Given the description of an element on the screen output the (x, y) to click on. 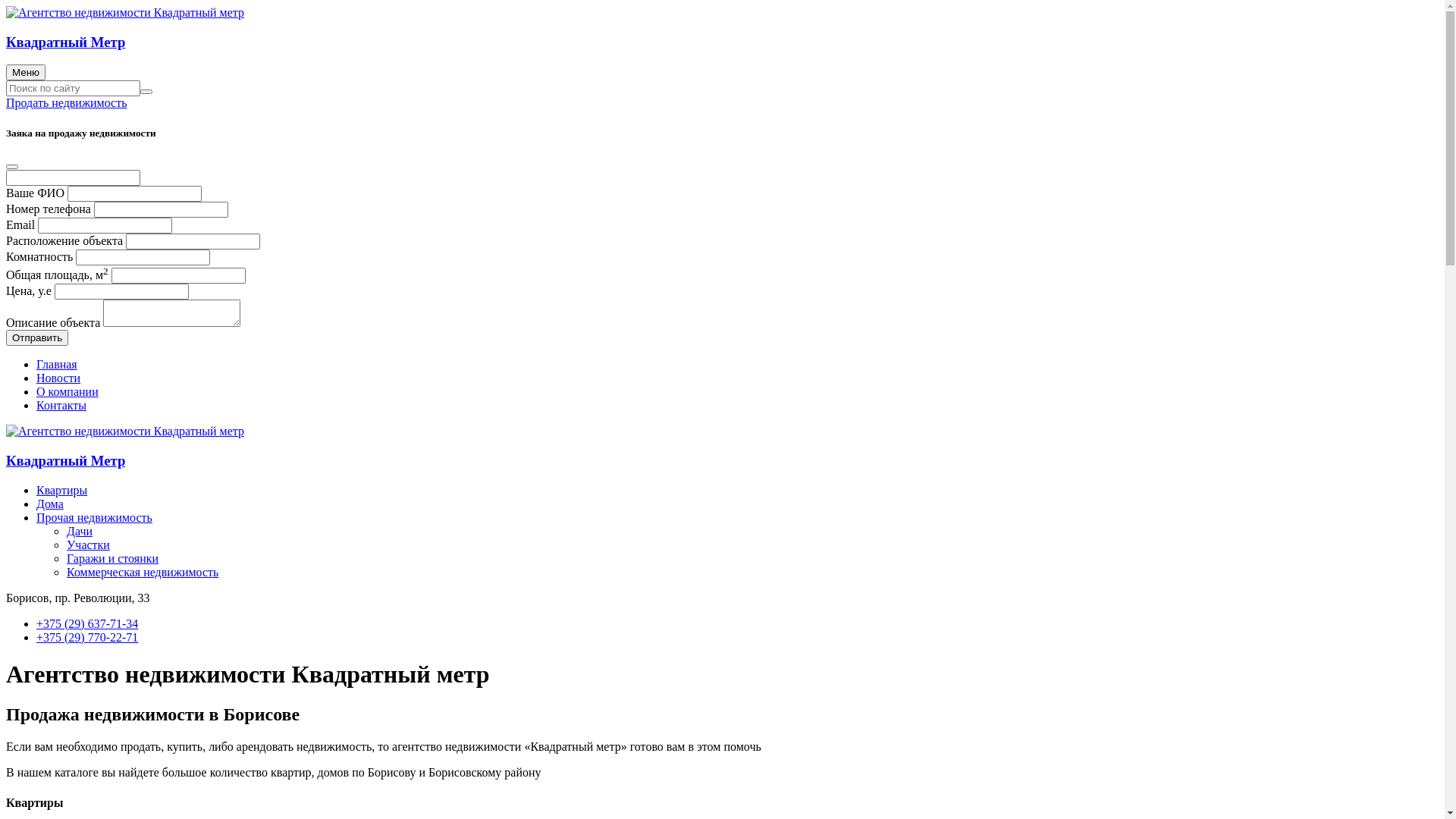
+375 (29) 637-71-34 Element type: text (87, 623)
+375 (29) 770-22-71 Element type: text (87, 636)
